Given the description of an element on the screen output the (x, y) to click on. 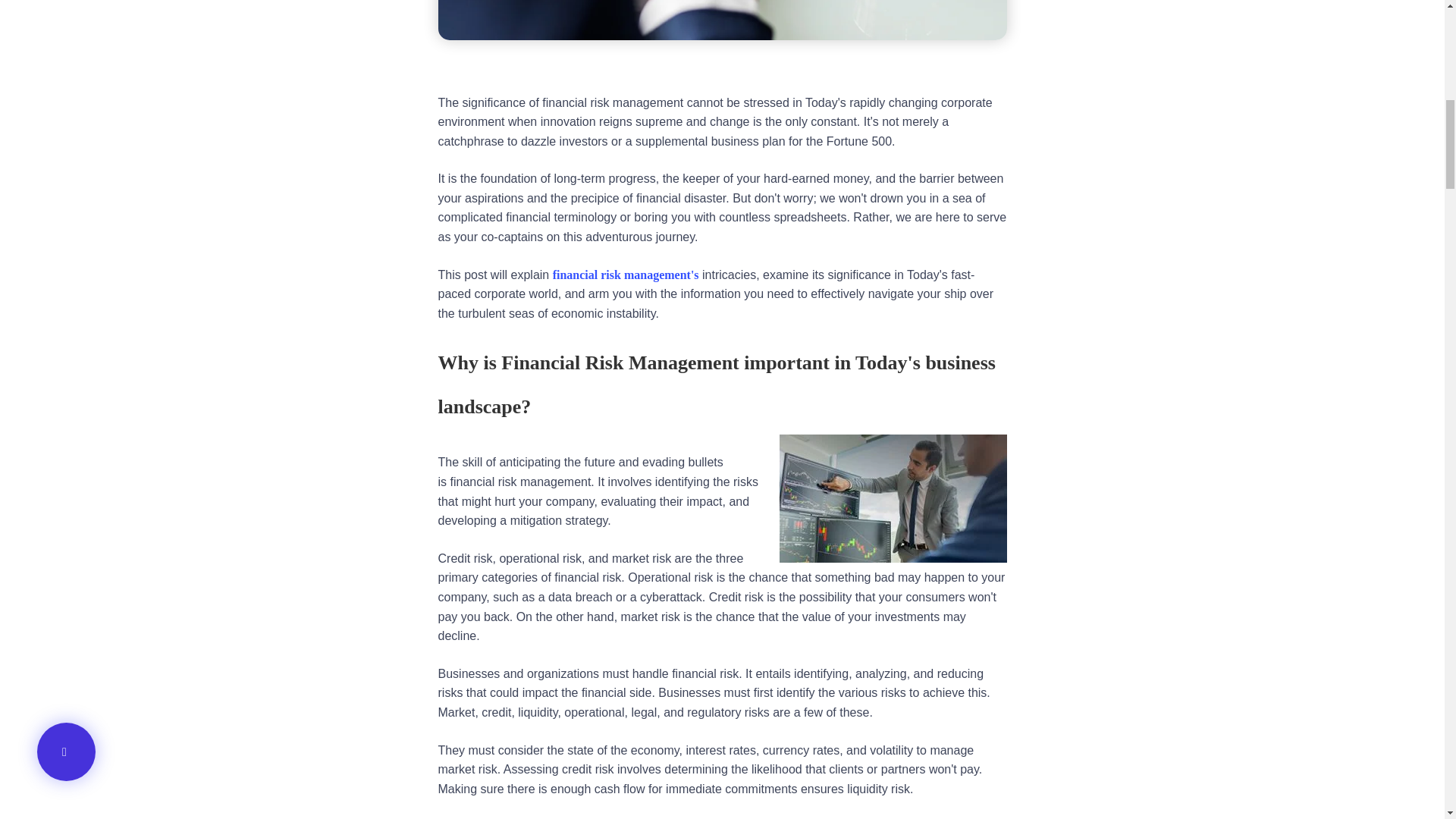
financial risk management's (625, 274)
